Given the description of an element on the screen output the (x, y) to click on. 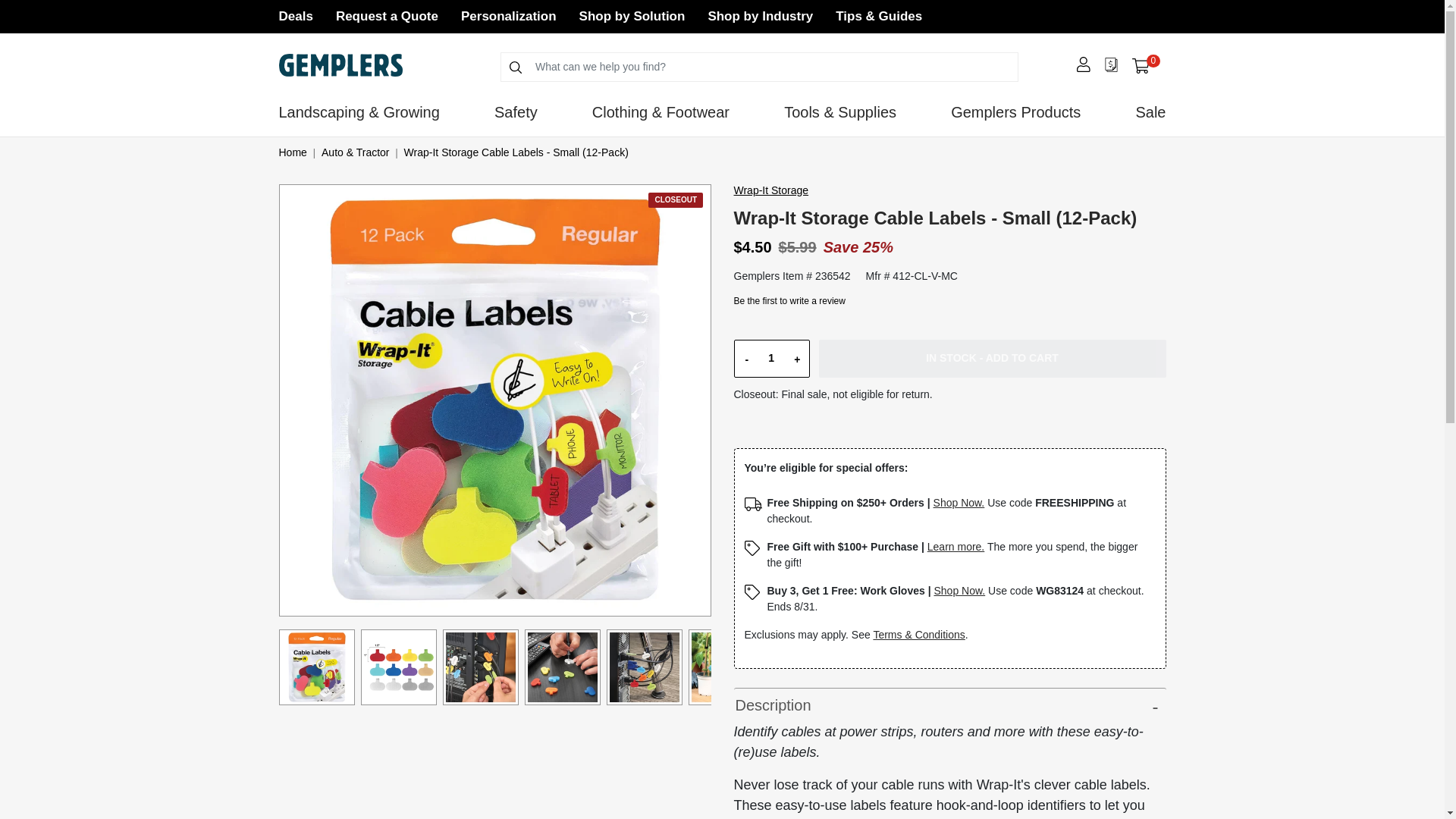
Personalization (508, 16)
Shopping Cart (1141, 66)
1 (770, 357)
Deals (296, 16)
Shop by Solution (1145, 65)
Request a Quote (632, 16)
Shop by Industry (387, 16)
